Given the description of an element on the screen output the (x, y) to click on. 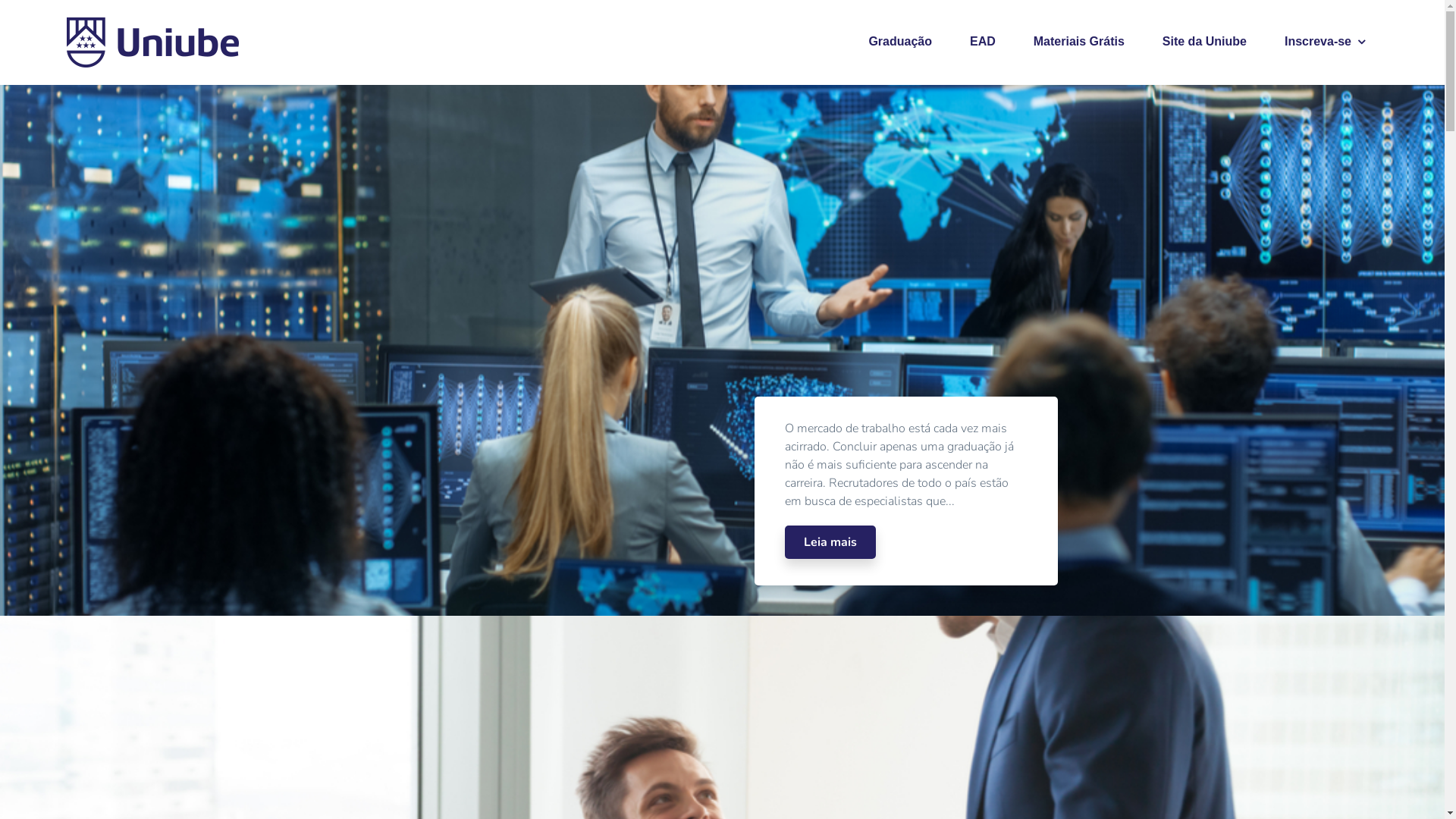
Site da Uniube Element type: text (1204, 41)
Leia mais Element type: text (829, 541)
Inscreva-se Element type: text (1324, 41)
EAD Element type: text (982, 41)
LOGO-UNIUBE-AZUL Element type: hover (152, 42)
